Given the description of an element on the screen output the (x, y) to click on. 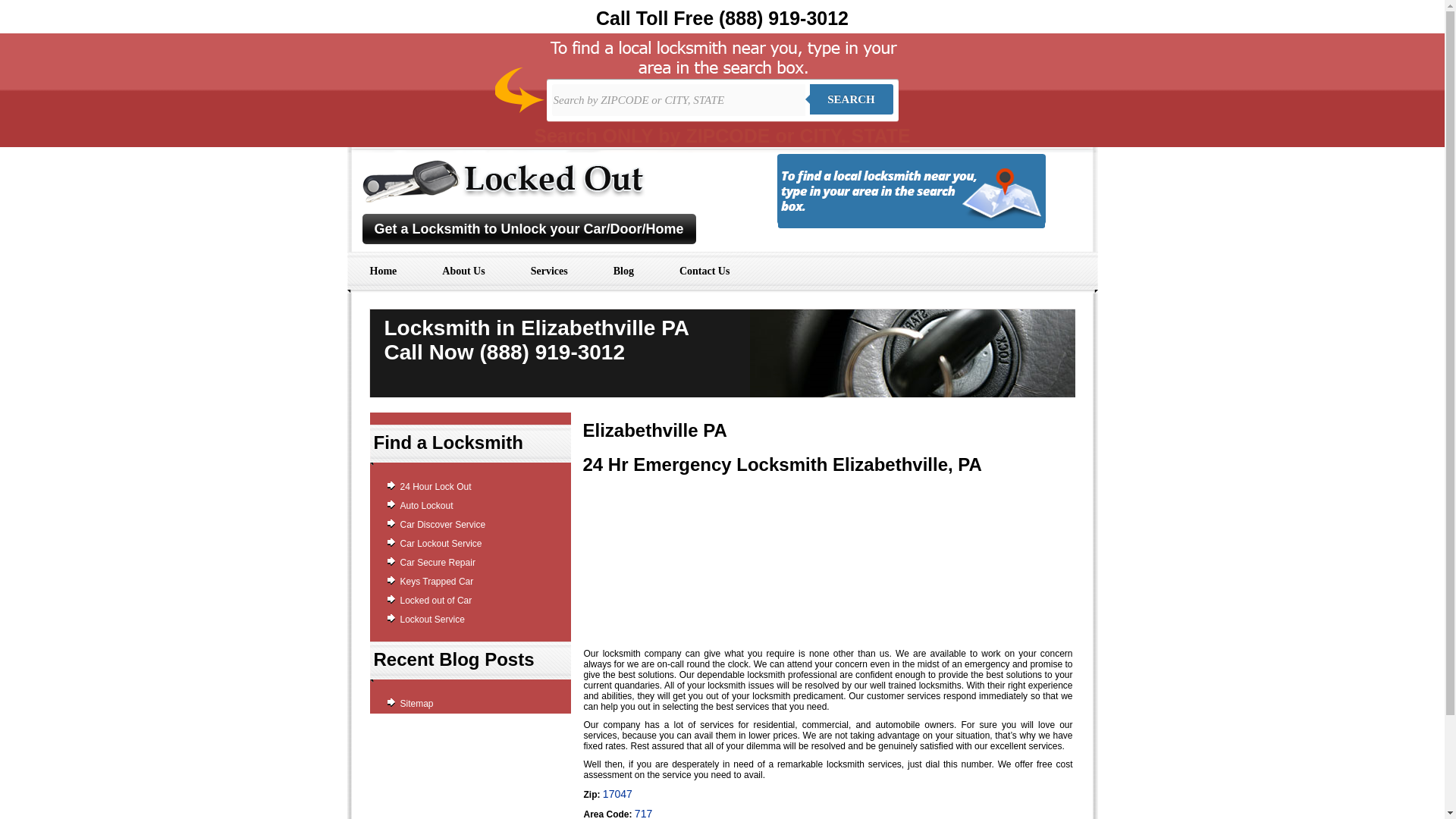
About Us (462, 271)
Sitemap (416, 703)
24 Hour Lock Out (435, 486)
717 (643, 813)
Keys Trapped Car (437, 581)
locked out of (503, 199)
Auto Lockout (426, 505)
Car Lockout Service (440, 543)
Locked out of Car (435, 600)
24 Hour Lock Out (435, 486)
